Given the description of an element on the screen output the (x, y) to click on. 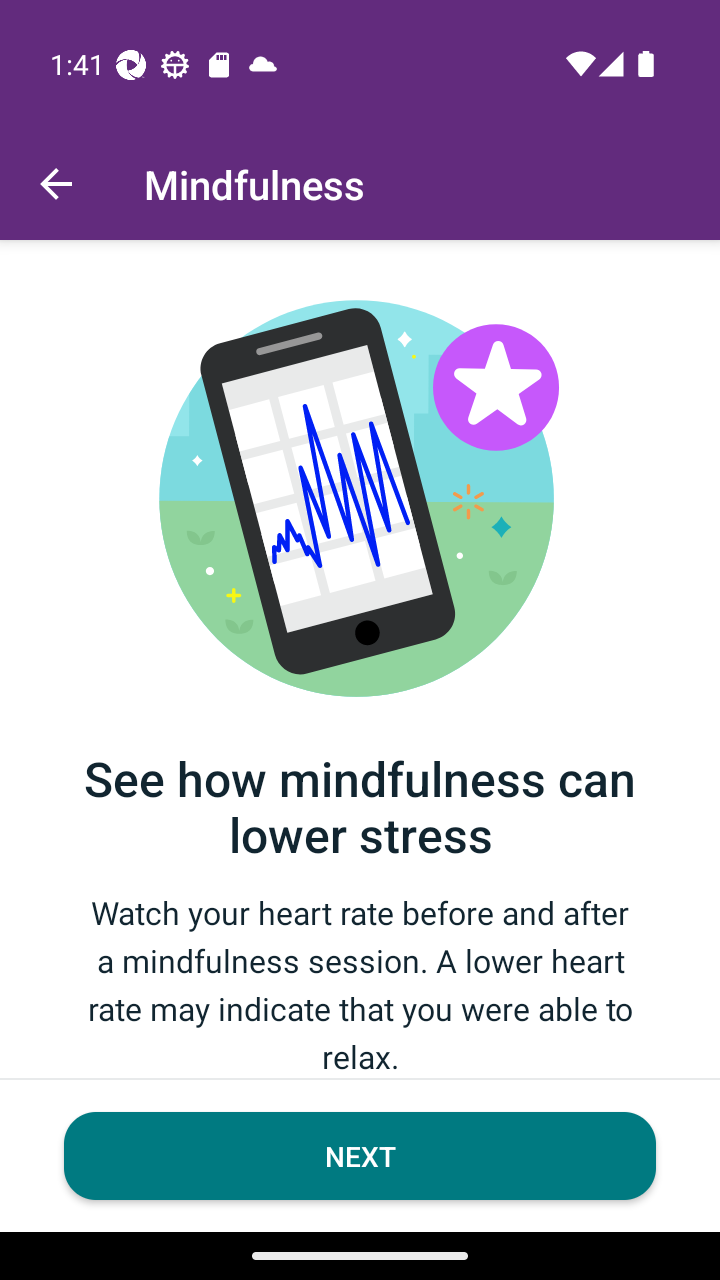
Navigate up (56, 184)
NEXT (359, 1156)
